Given the description of an element on the screen output the (x, y) to click on. 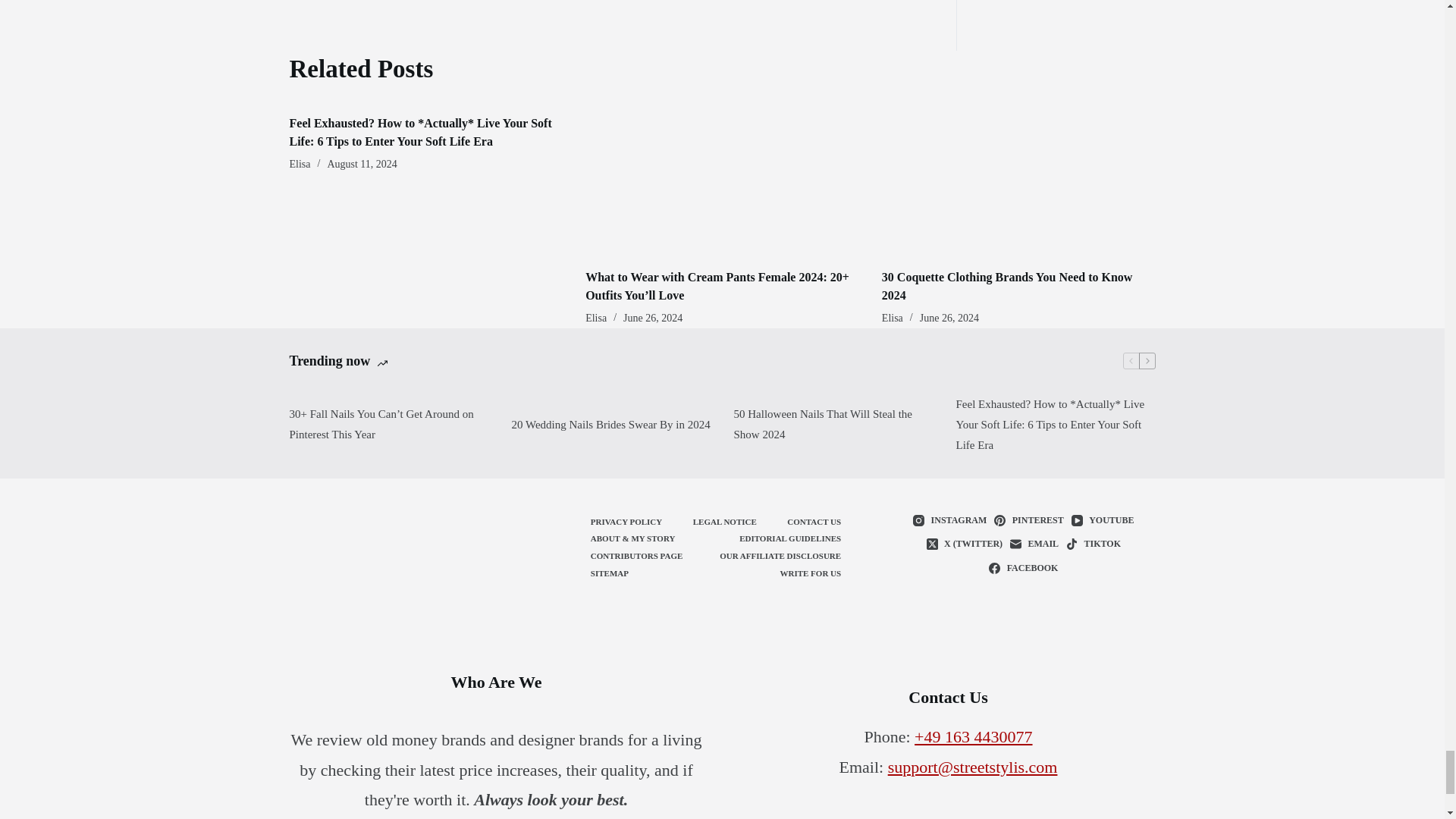
Posts by Elisa (892, 317)
Posts by Elisa (596, 317)
Posts by Elisa (300, 163)
